Given the description of an element on the screen output the (x, y) to click on. 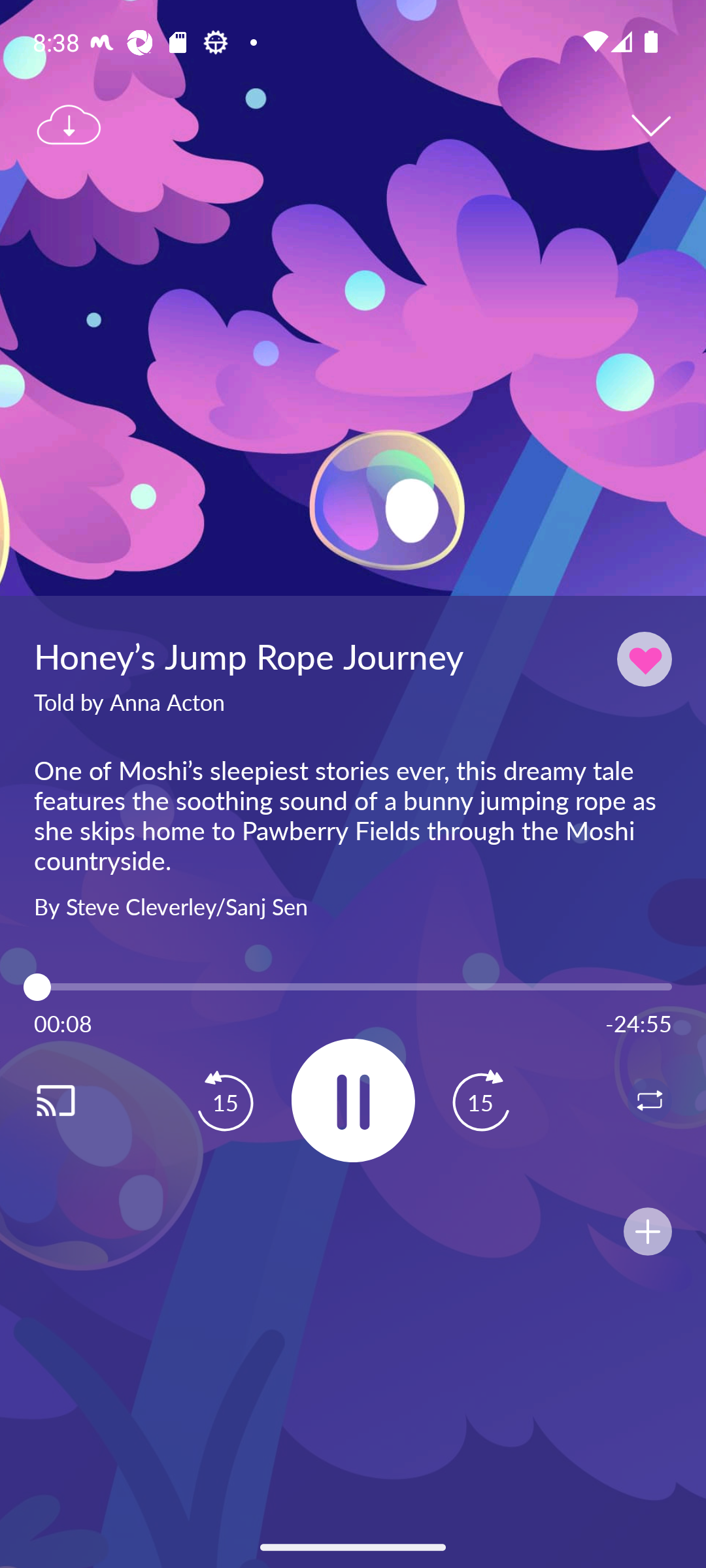
8.0 (352, 986)
Cast. Disconnected (76, 1100)
